Given the description of an element on the screen output the (x, y) to click on. 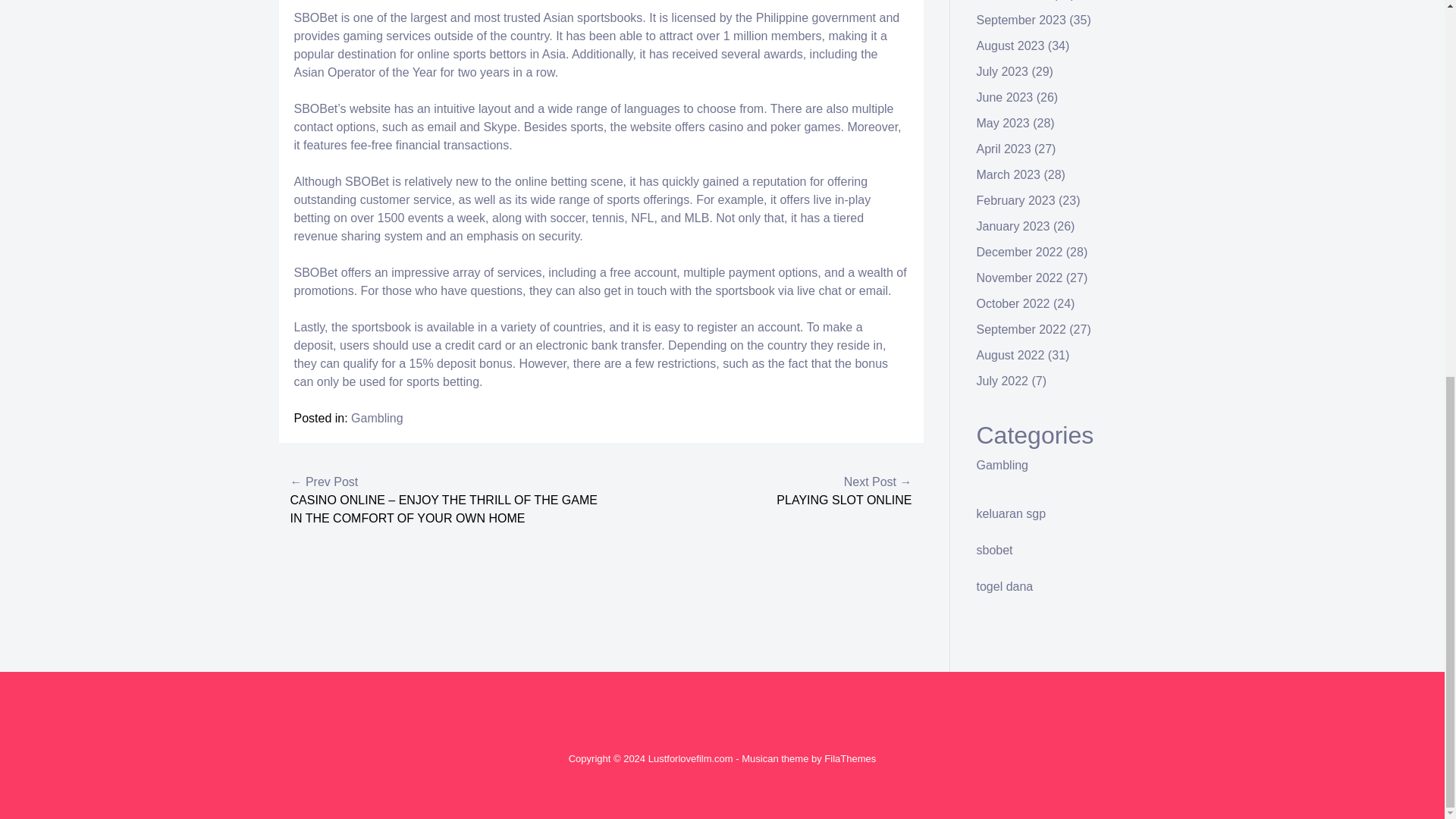
July 2022 (1002, 380)
January 2023 (1012, 226)
February 2023 (1015, 200)
November 2022 (1019, 277)
October 2022 (1012, 303)
May 2023 (1002, 123)
Gambling (376, 418)
June 2023 (1004, 97)
March 2023 (1008, 174)
Gambling (1001, 464)
